Given the description of an element on the screen output the (x, y) to click on. 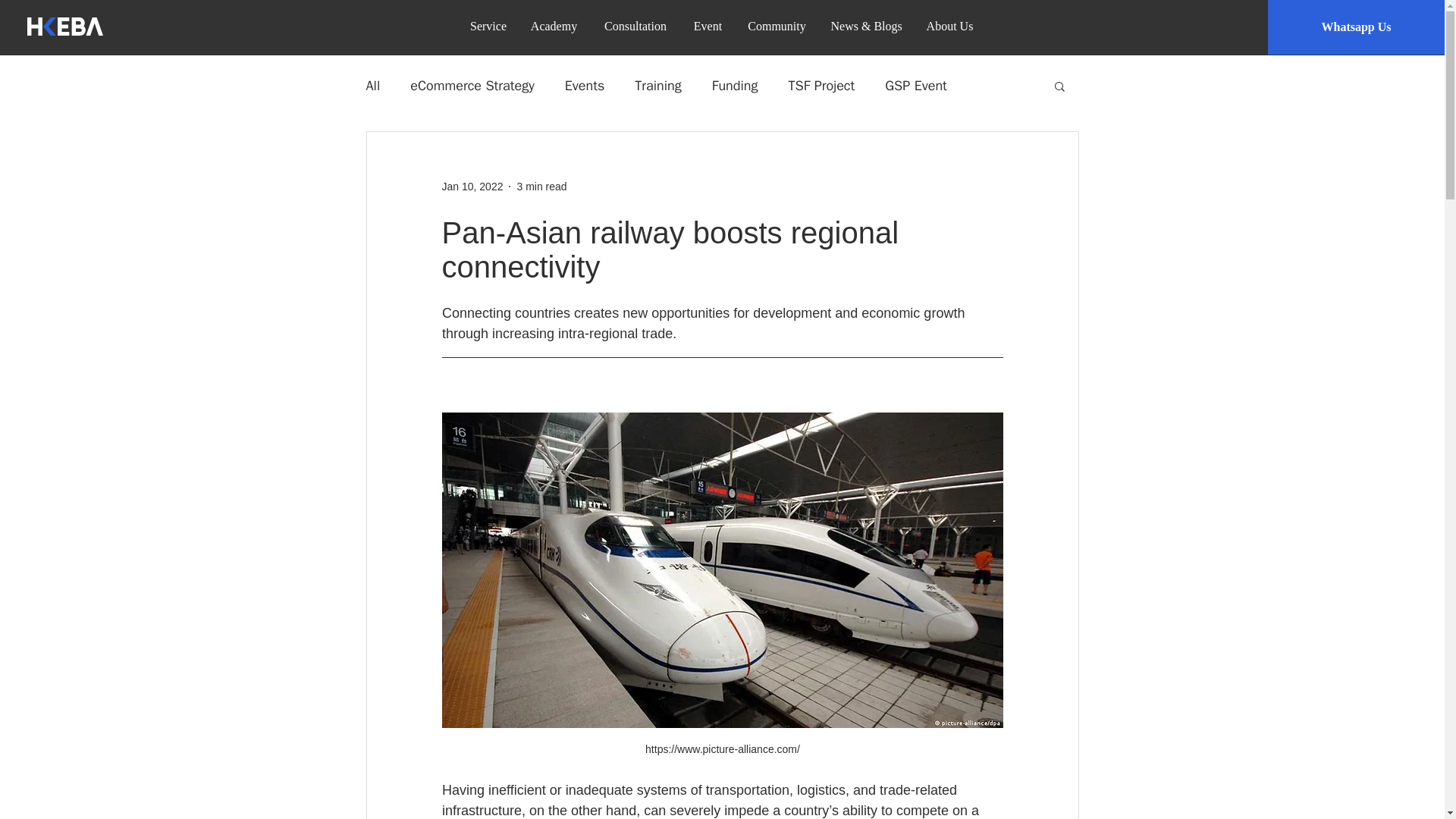
Academy (553, 26)
Training (657, 85)
GSP Event (916, 85)
Consultation (635, 26)
Events (584, 85)
Event (707, 26)
TSF Project (822, 85)
Funding (734, 85)
eCommerce Strategy (472, 85)
Service (488, 26)
About Us (948, 26)
3 min read (541, 186)
Jan 10, 2022 (471, 186)
Community (775, 26)
